Given the description of an element on the screen output the (x, y) to click on. 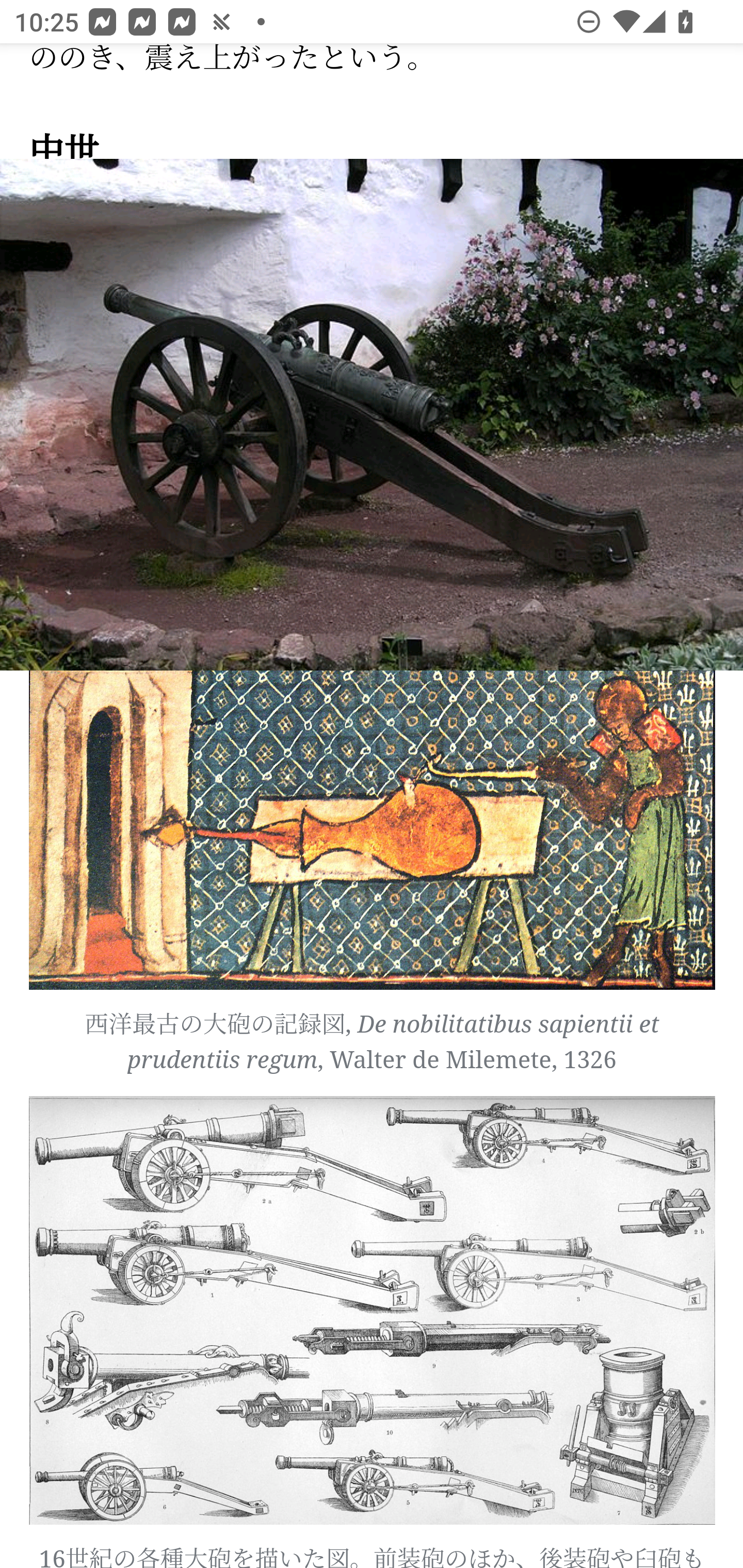
Image: 大砲 (371, 414)
1280px-16th_Century_Artillerie (372, 1311)
